Given the description of an element on the screen output the (x, y) to click on. 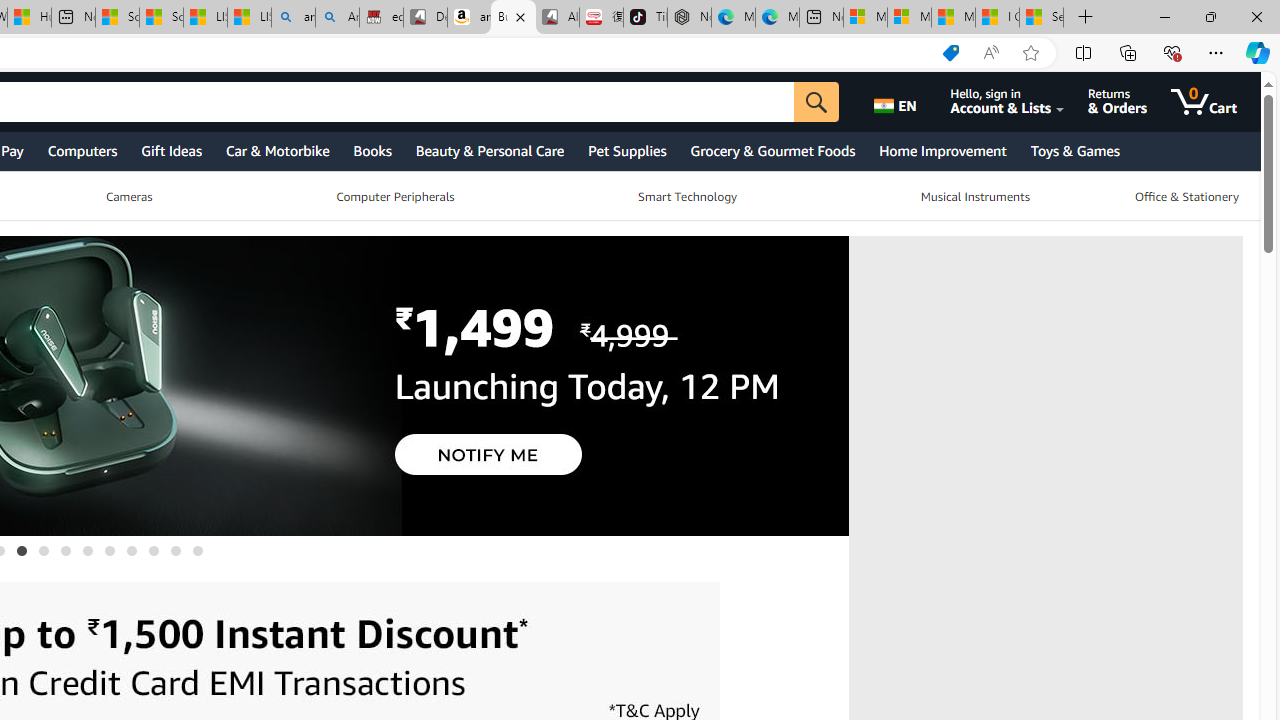
Amazon Echo Dot PNG - Search Images (337, 17)
amazon - Search (292, 17)
Beauty & Personal Care (489, 150)
Grocery & Gourmet Foods (772, 150)
Go (824, 101)
Car & Motorbike (276, 150)
